Given the description of an element on the screen output the (x, y) to click on. 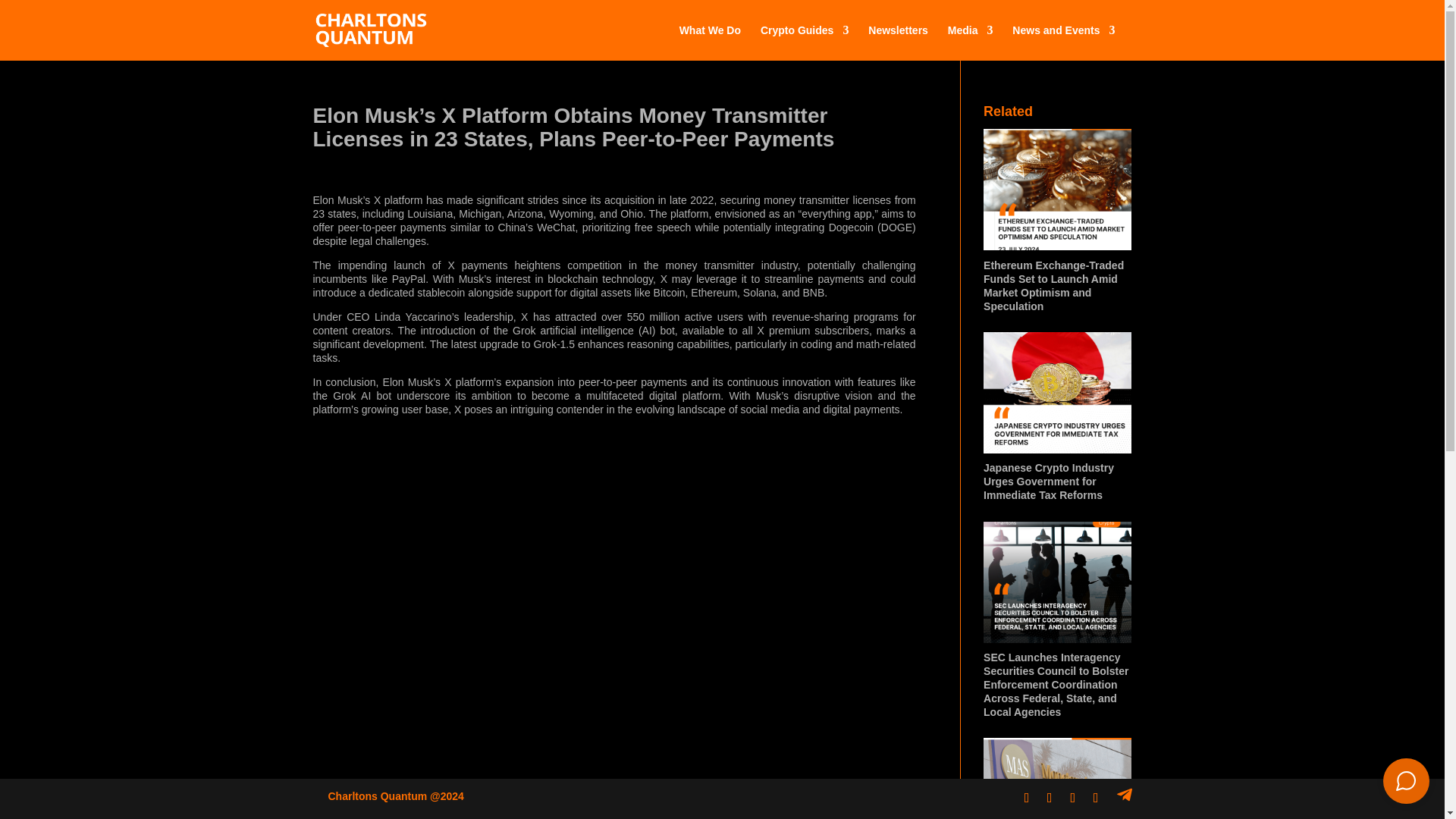
Newsletters (897, 42)
What We Do (710, 42)
Media (969, 42)
Crypto Guides (804, 42)
indemandly (1406, 780)
News and Events (1063, 42)
